Given the description of an element on the screen output the (x, y) to click on. 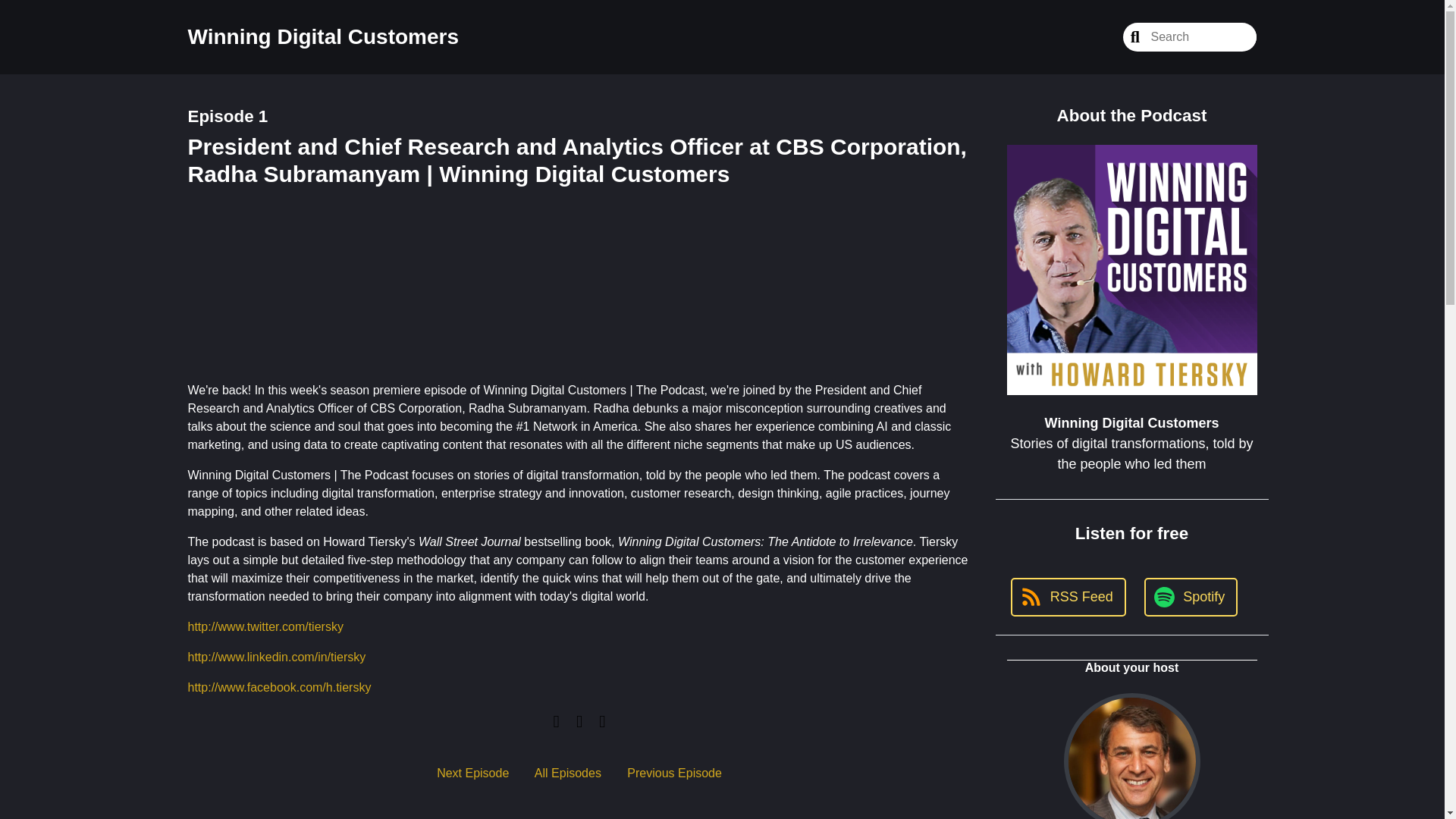
Next Episode (472, 772)
All Episodes (567, 772)
Spotify (1190, 597)
Previous Episode (674, 772)
RSS Feed (1067, 597)
